Given the description of an element on the screen output the (x, y) to click on. 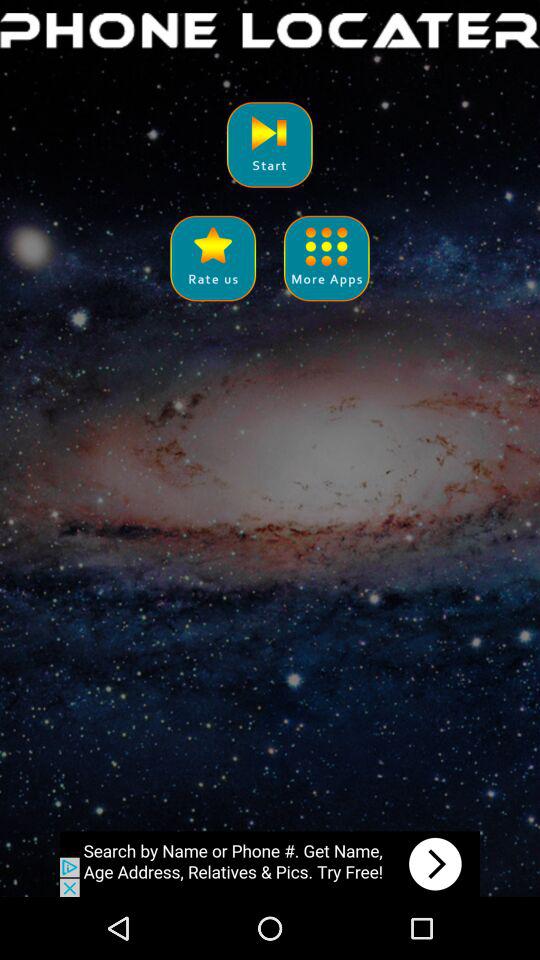
start locater (269, 144)
